Given the description of an element on the screen output the (x, y) to click on. 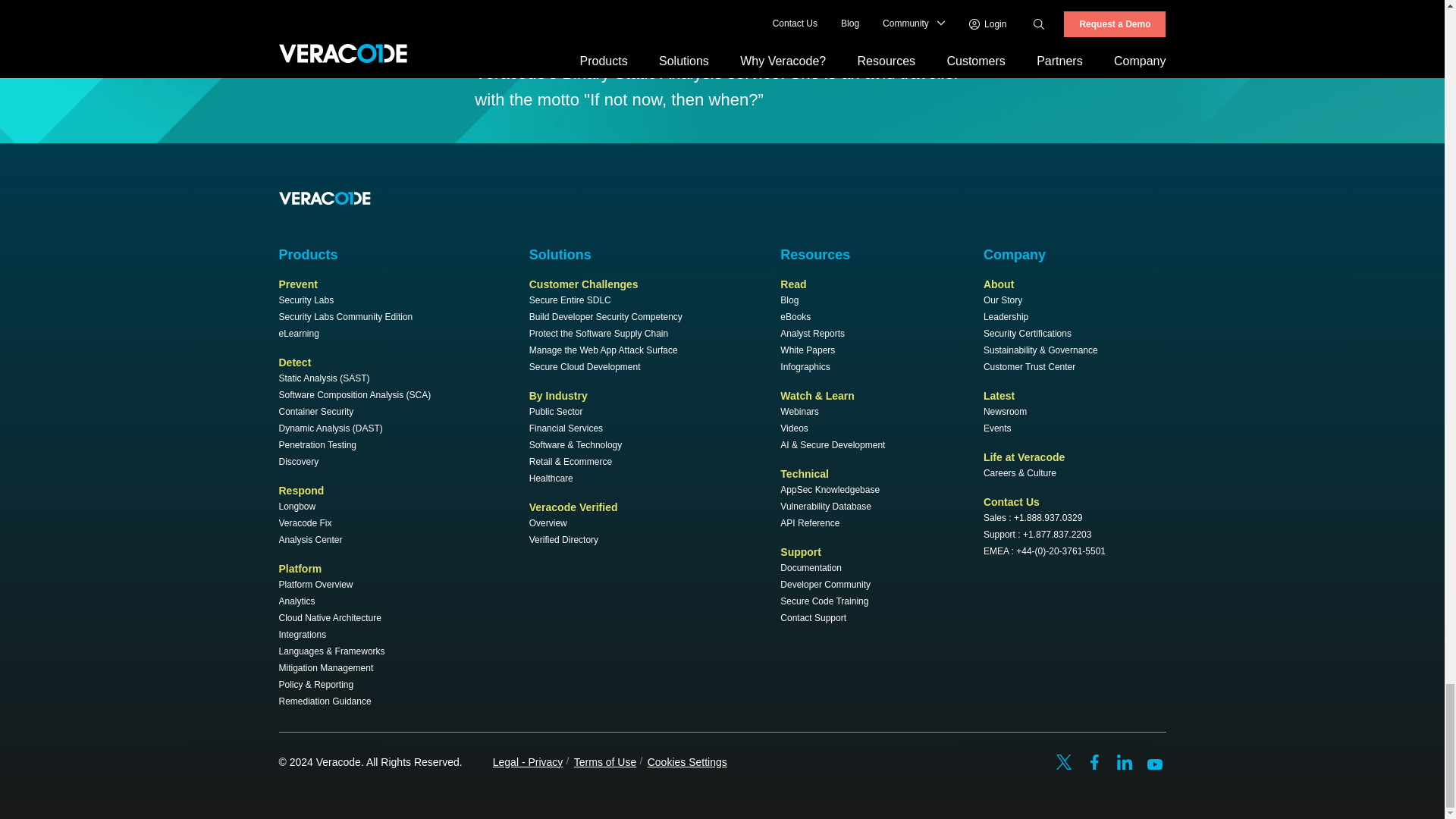
Longbow (297, 506)
Terms of Use (604, 761)
Cookies Settings (686, 761)
Legal - Privacy (528, 761)
VeraCode (325, 195)
